Given the description of an element on the screen output the (x, y) to click on. 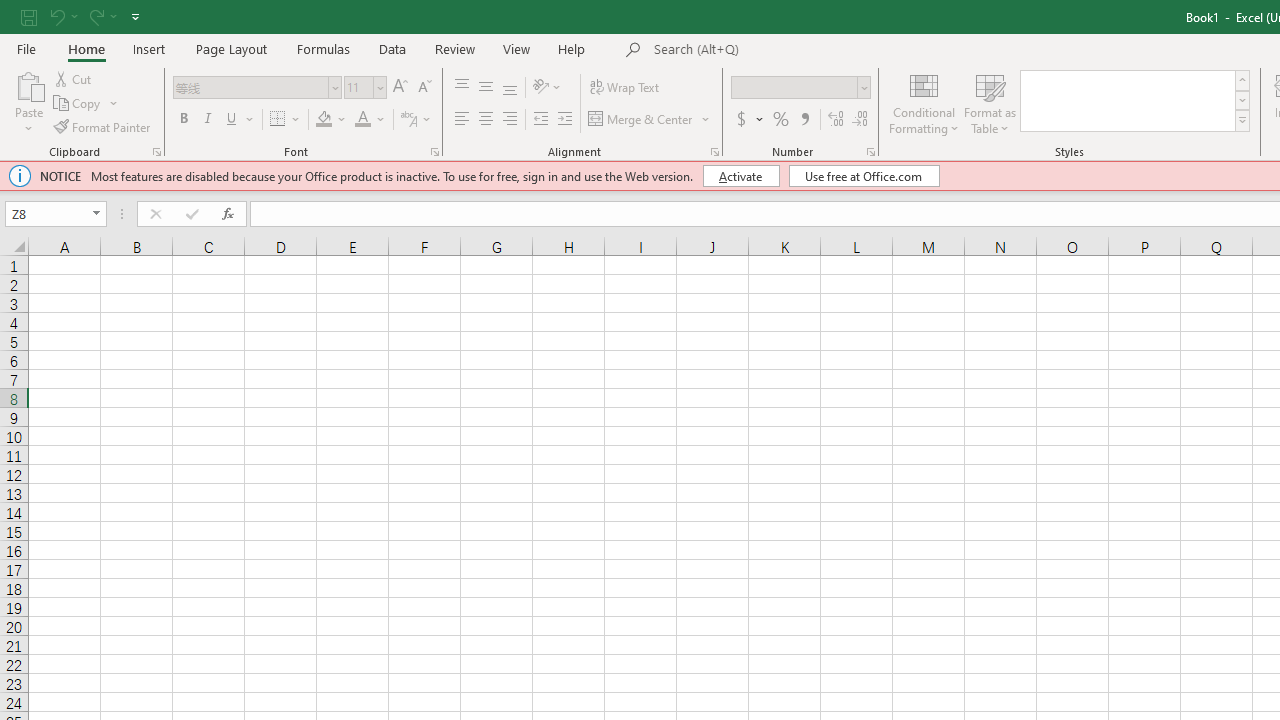
Conditional Formatting (924, 102)
Decrease Indent (540, 119)
Font Color (370, 119)
Cut (73, 78)
Borders (285, 119)
Align Right (509, 119)
